Given the description of an element on the screen output the (x, y) to click on. 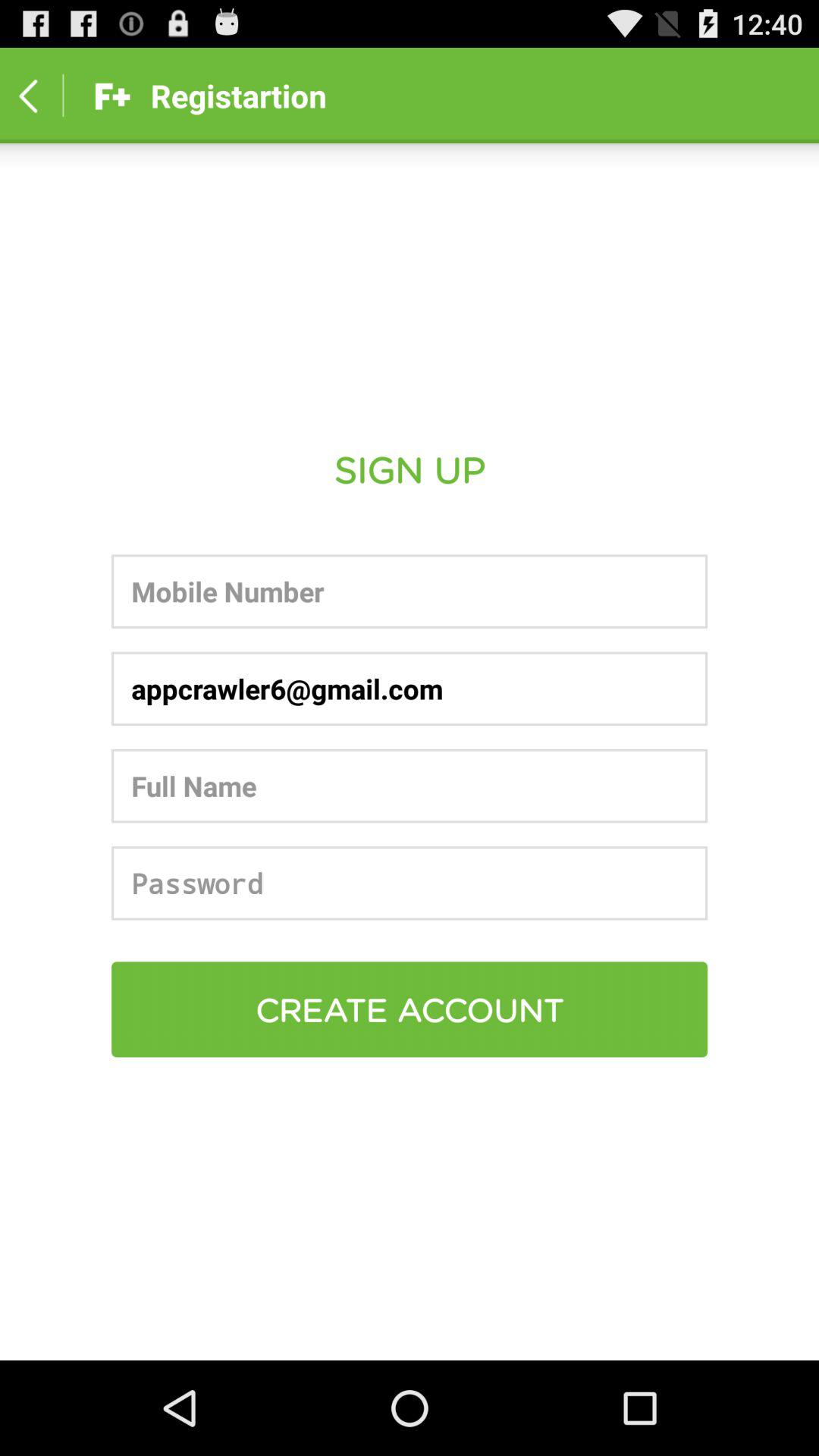
enter full name (409, 785)
